Given the description of an element on the screen output the (x, y) to click on. 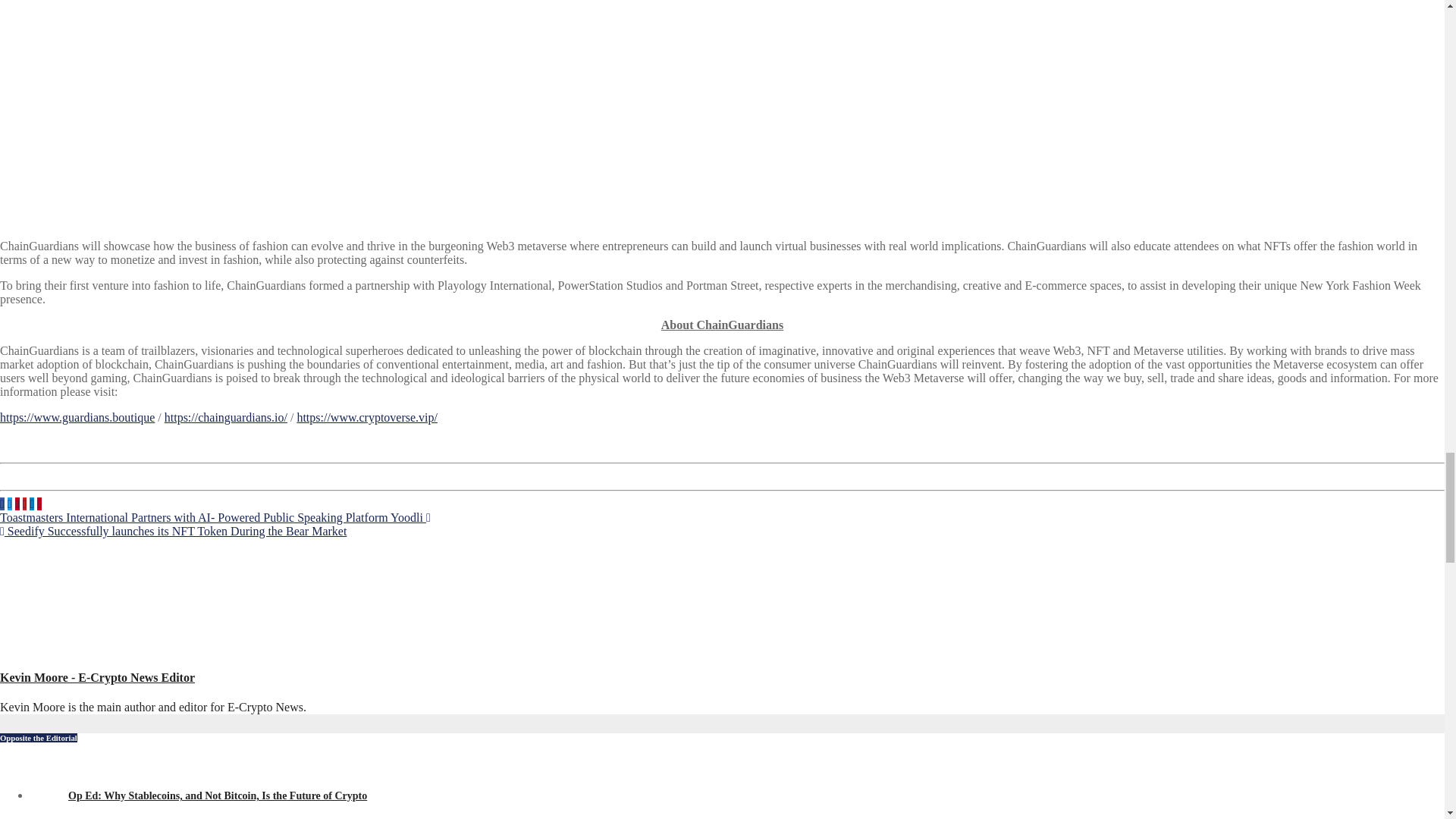
ChainGuardian - E-Crypto News (182, 99)
